Given the description of an element on the screen output the (x, y) to click on. 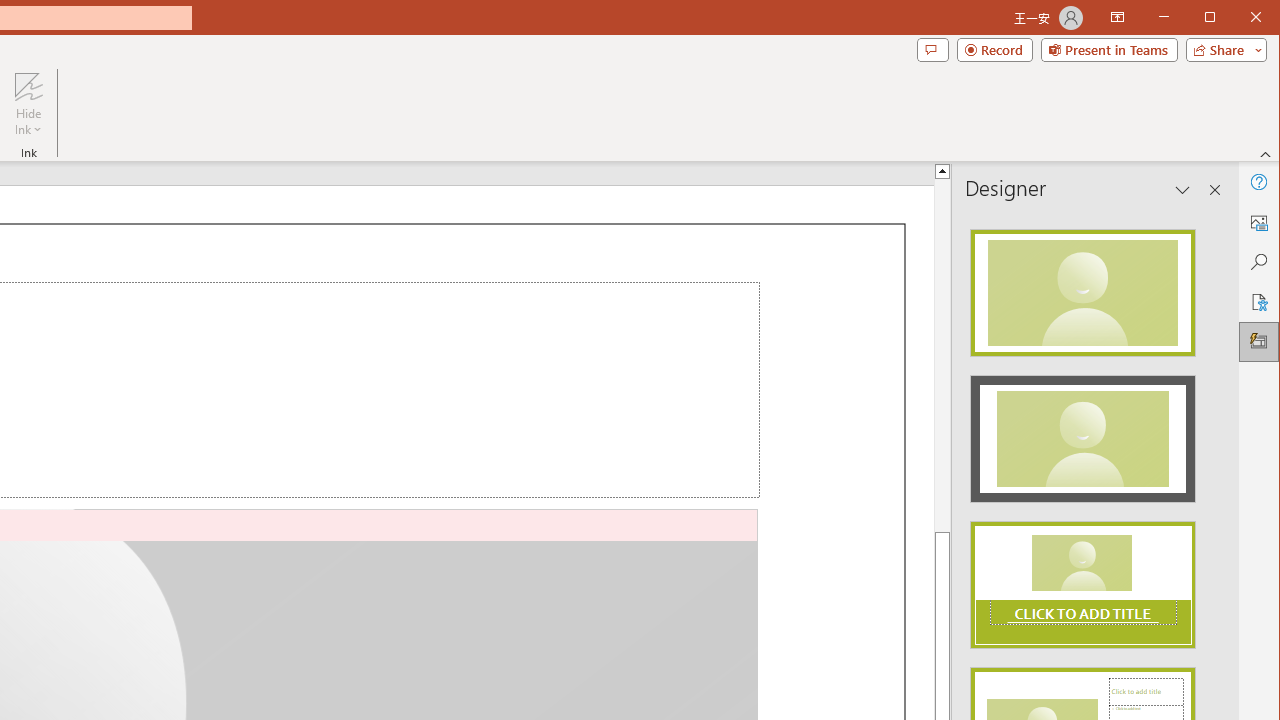
Recommended Design: Design Idea (1082, 286)
